Given the description of an element on the screen output the (x, y) to click on. 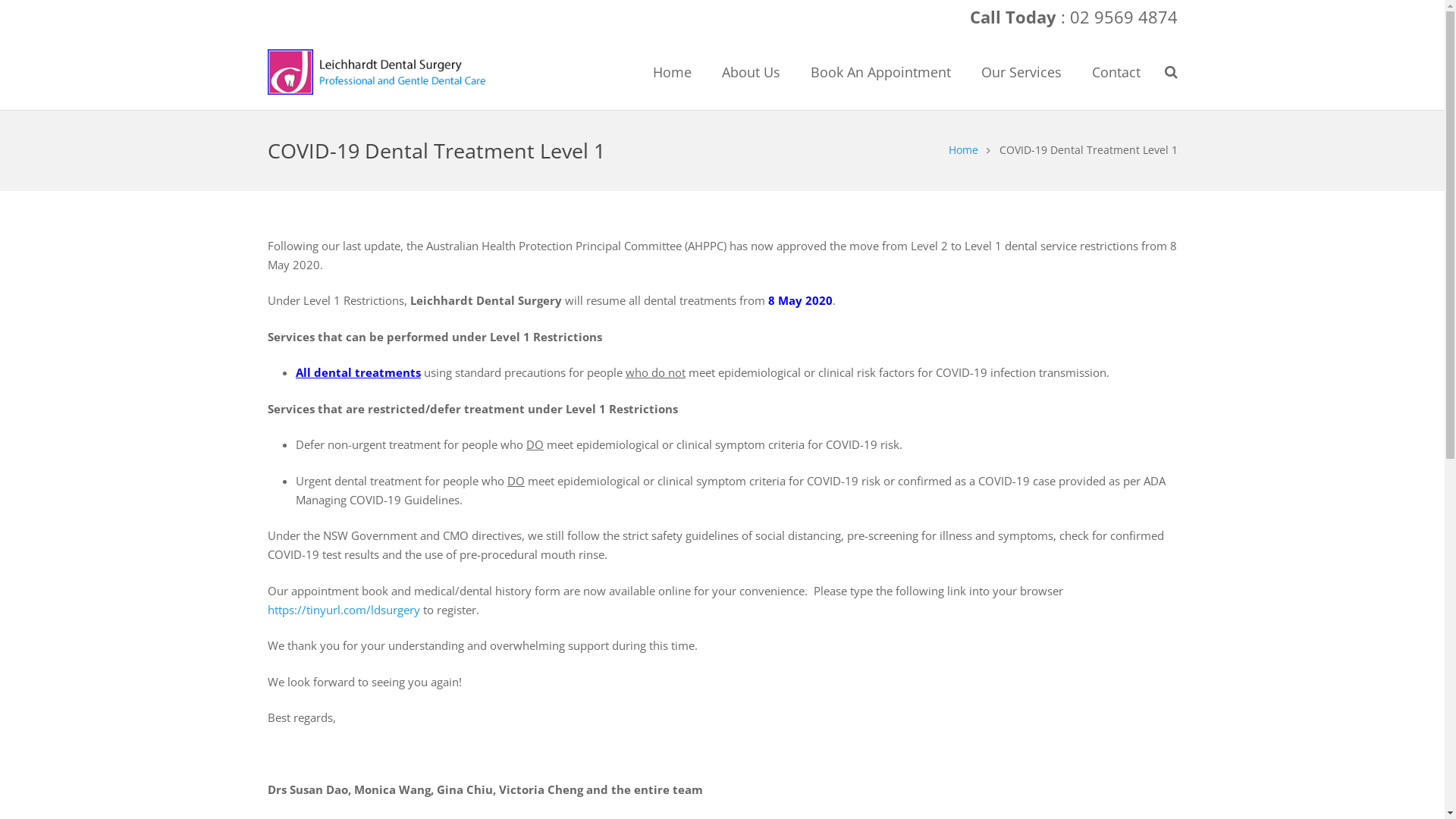
Book An Appointment Element type: text (879, 71)
Our Services Element type: text (1021, 71)
Contact Element type: text (1115, 71)
Home Element type: text (962, 149)
Home Element type: text (671, 71)
About Us Element type: text (750, 71)
https://tinyurl.com/ldsurgery Element type: text (344, 609)
